Given the description of an element on the screen output the (x, y) to click on. 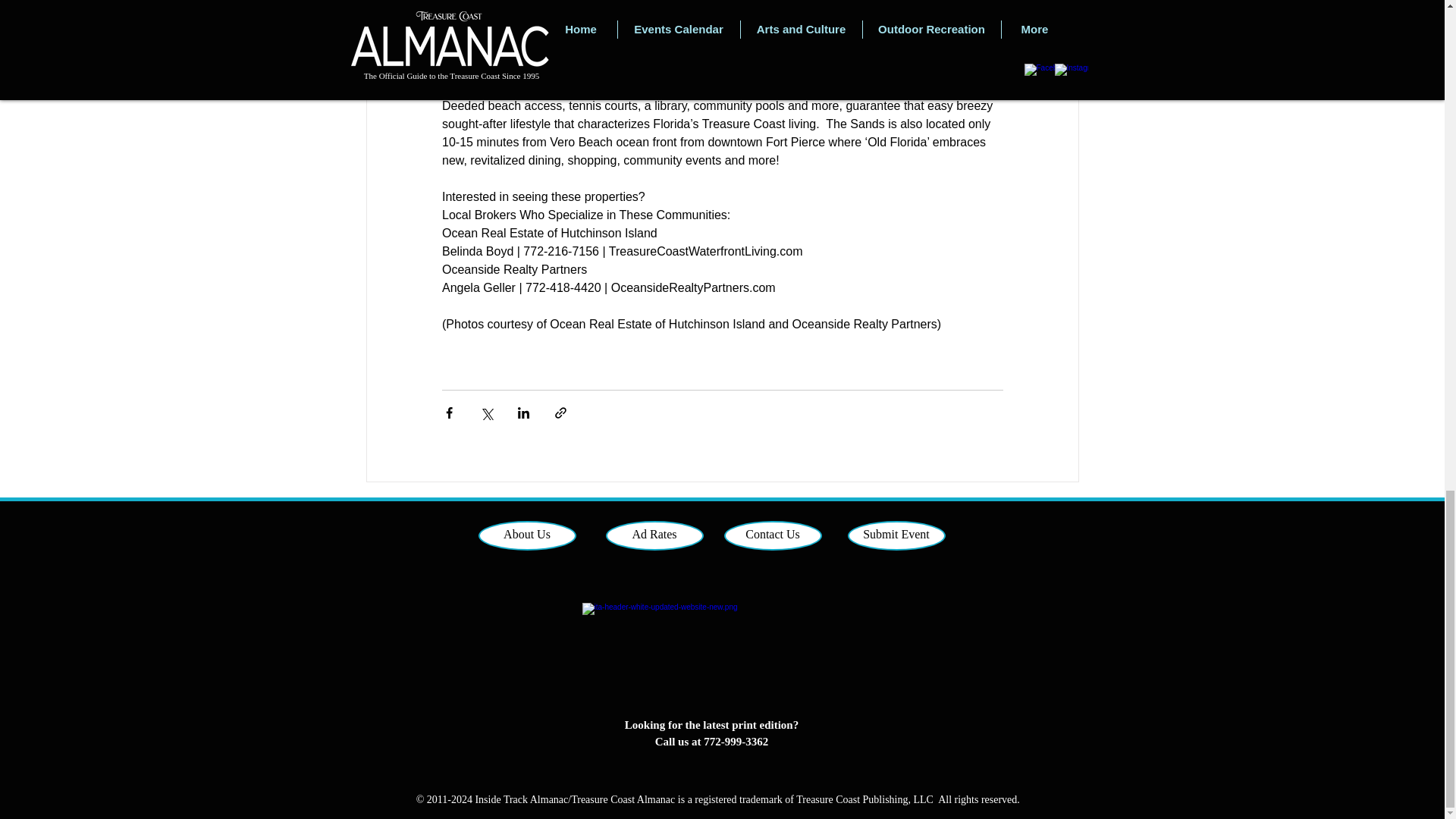
Submit Event (895, 535)
Contact Us (772, 535)
Ad Rates (654, 535)
About Us (526, 535)
